Given the description of an element on the screen output the (x, y) to click on. 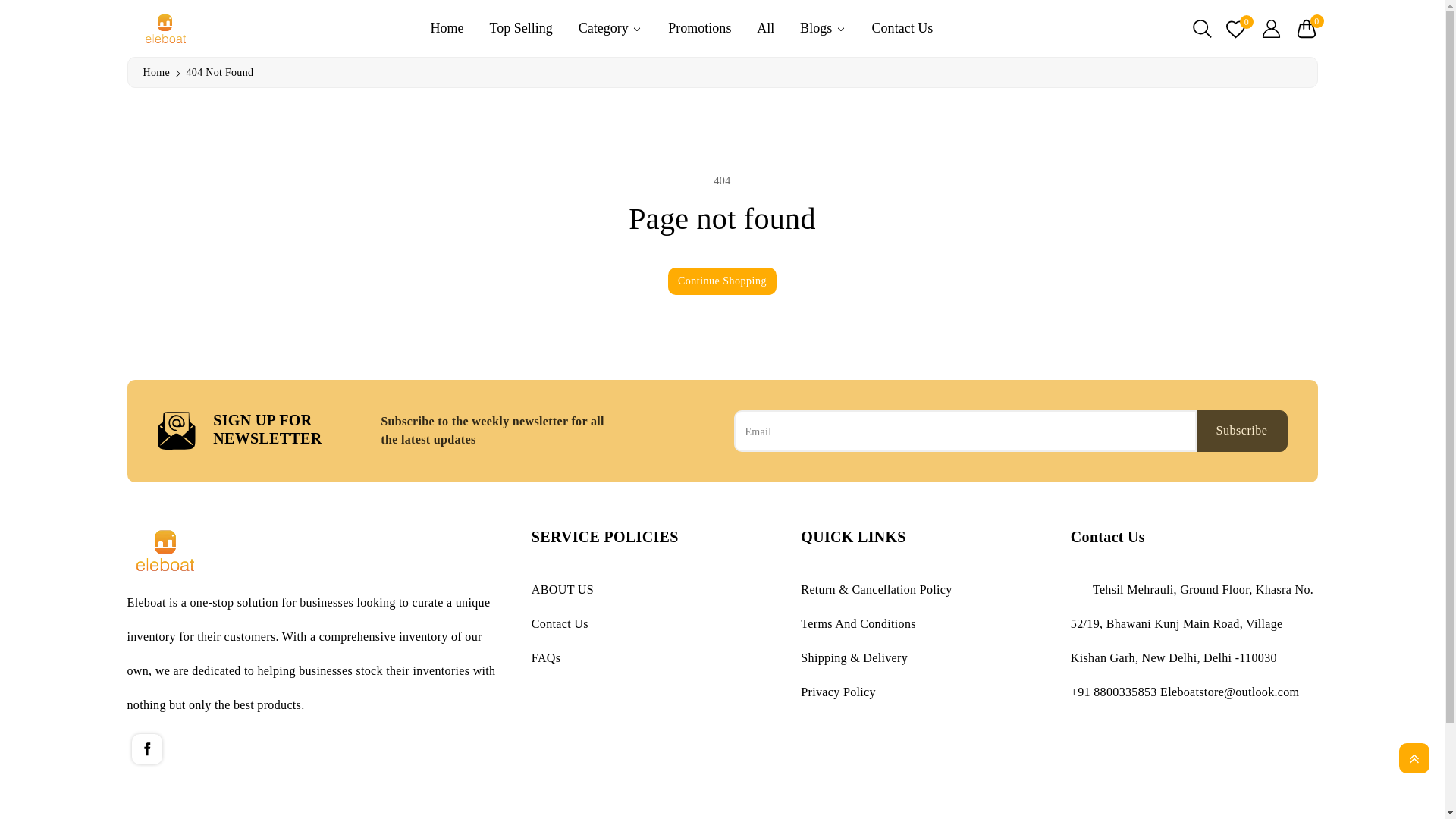
Contact Us (902, 28)
Skip To Content (9, 6)
Category (610, 28)
Top Selling (520, 28)
Scroll to top (1414, 757)
Home (155, 71)
Promotions (699, 28)
Blogs (822, 28)
